Given the description of an element on the screen output the (x, y) to click on. 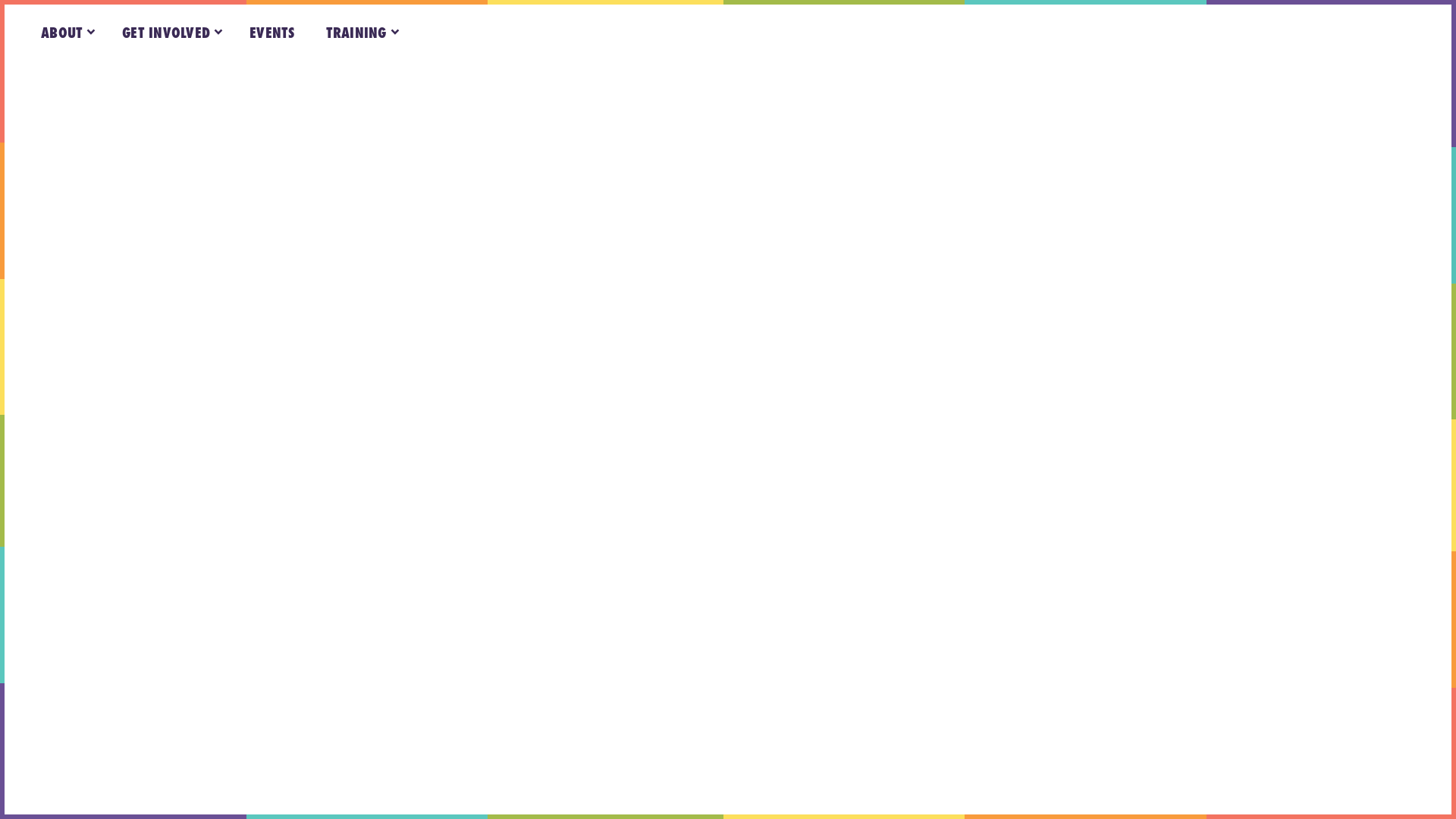
EVENTS Element type: text (272, 33)
